Given the description of an element on the screen output the (x, y) to click on. 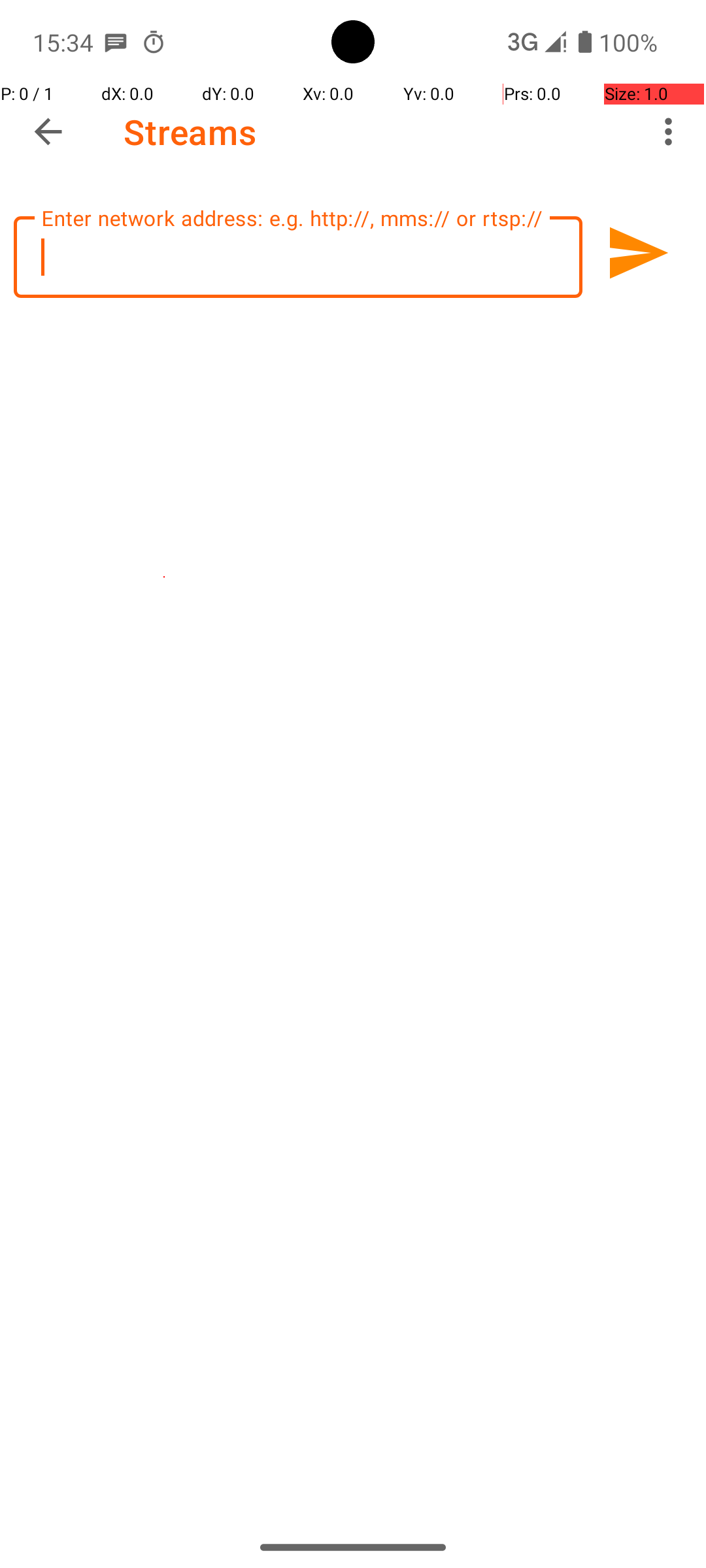
Enter network address: e.g. http://, mms:// or rtsp:// Element type: android.widget.EditText (297, 256)
Play Button Element type: android.widget.ImageView (637, 252)
